Given the description of an element on the screen output the (x, y) to click on. 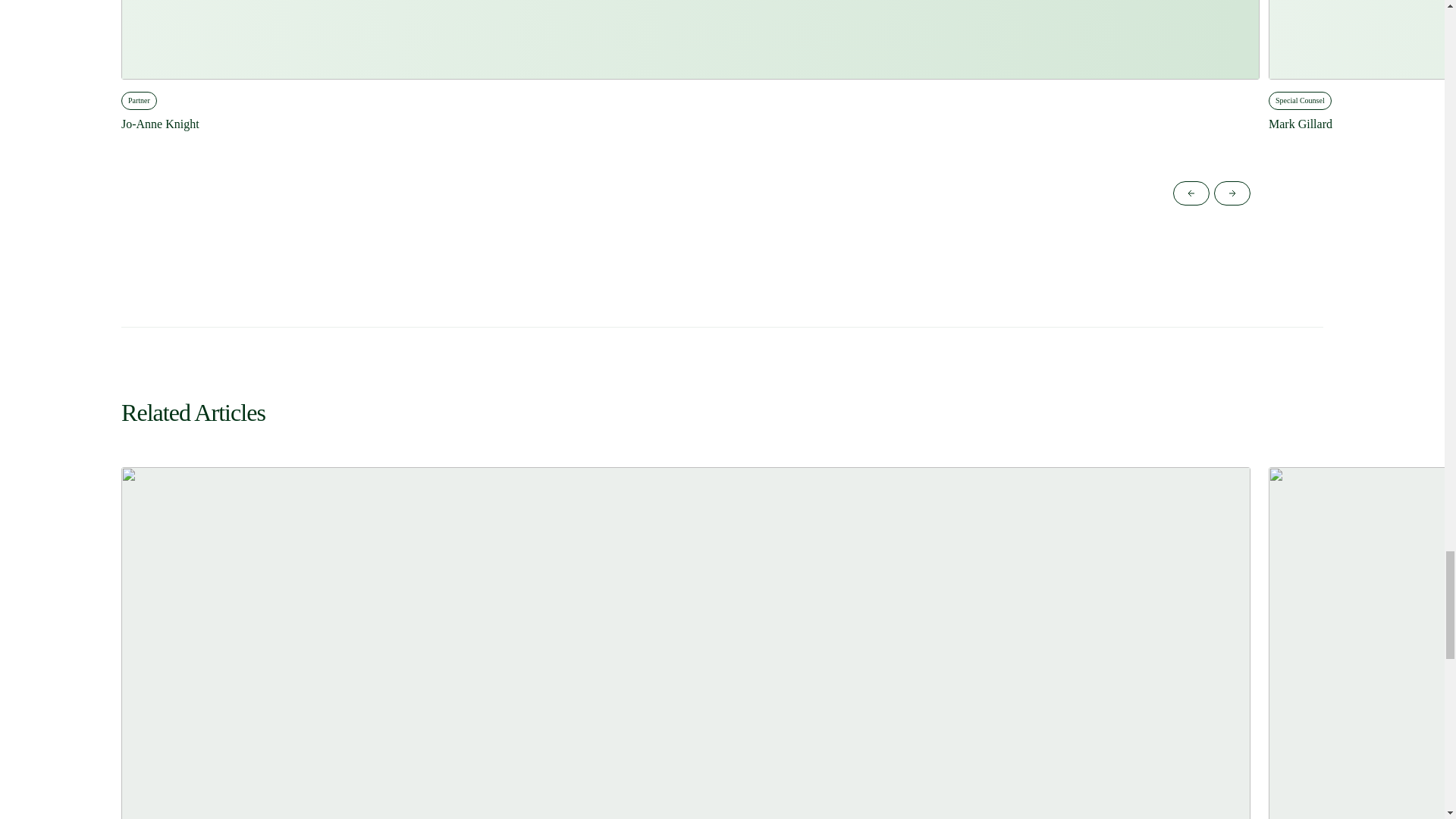
Special Counsel (1300, 100)
